Given the description of an element on the screen output the (x, y) to click on. 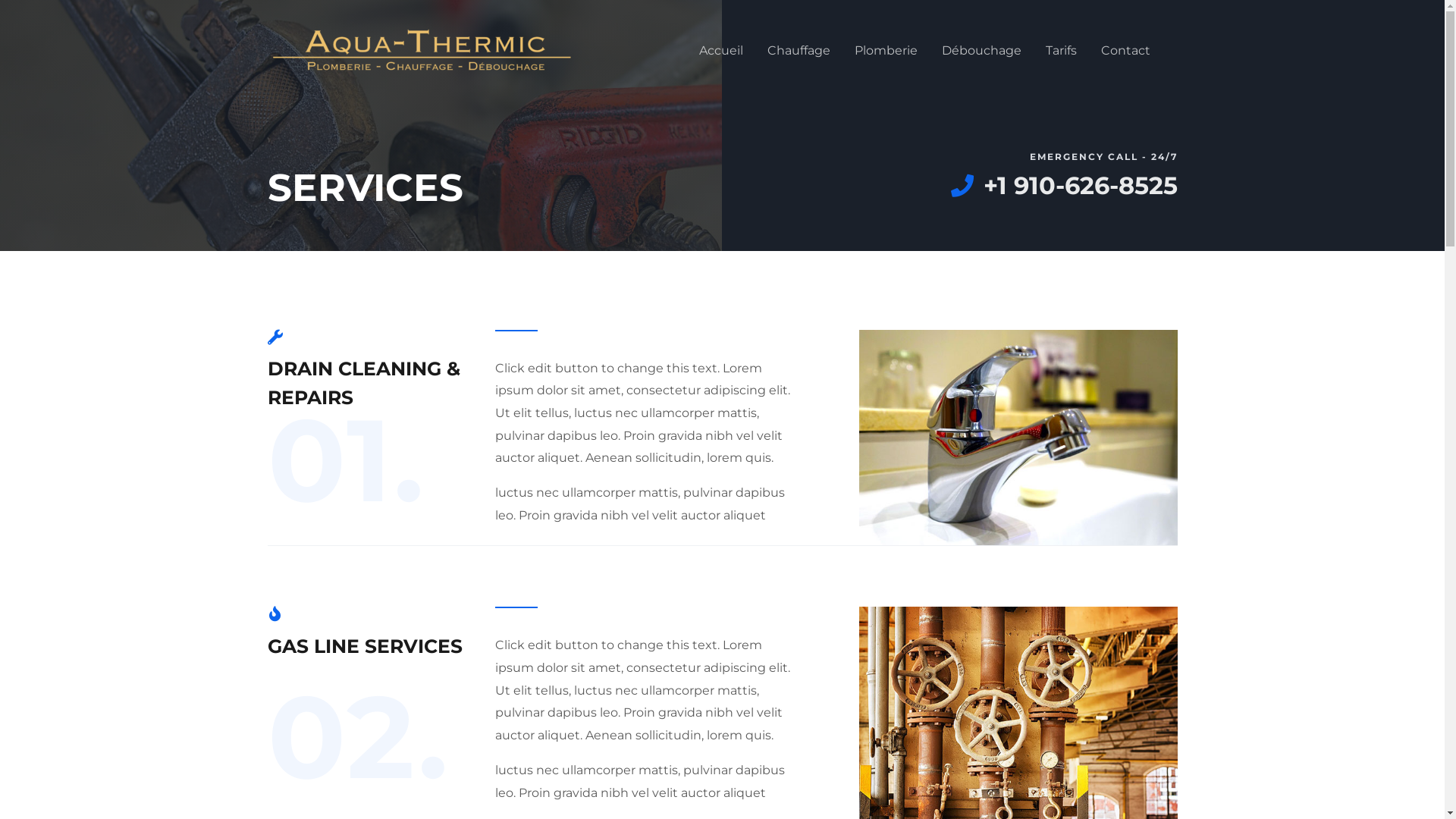
Tarifs Element type: text (1060, 50)
Contact Element type: text (1125, 50)
Accueil Element type: text (721, 50)
Chauffage Element type: text (798, 50)
Plomberie Element type: text (884, 50)
